Given the description of an element on the screen output the (x, y) to click on. 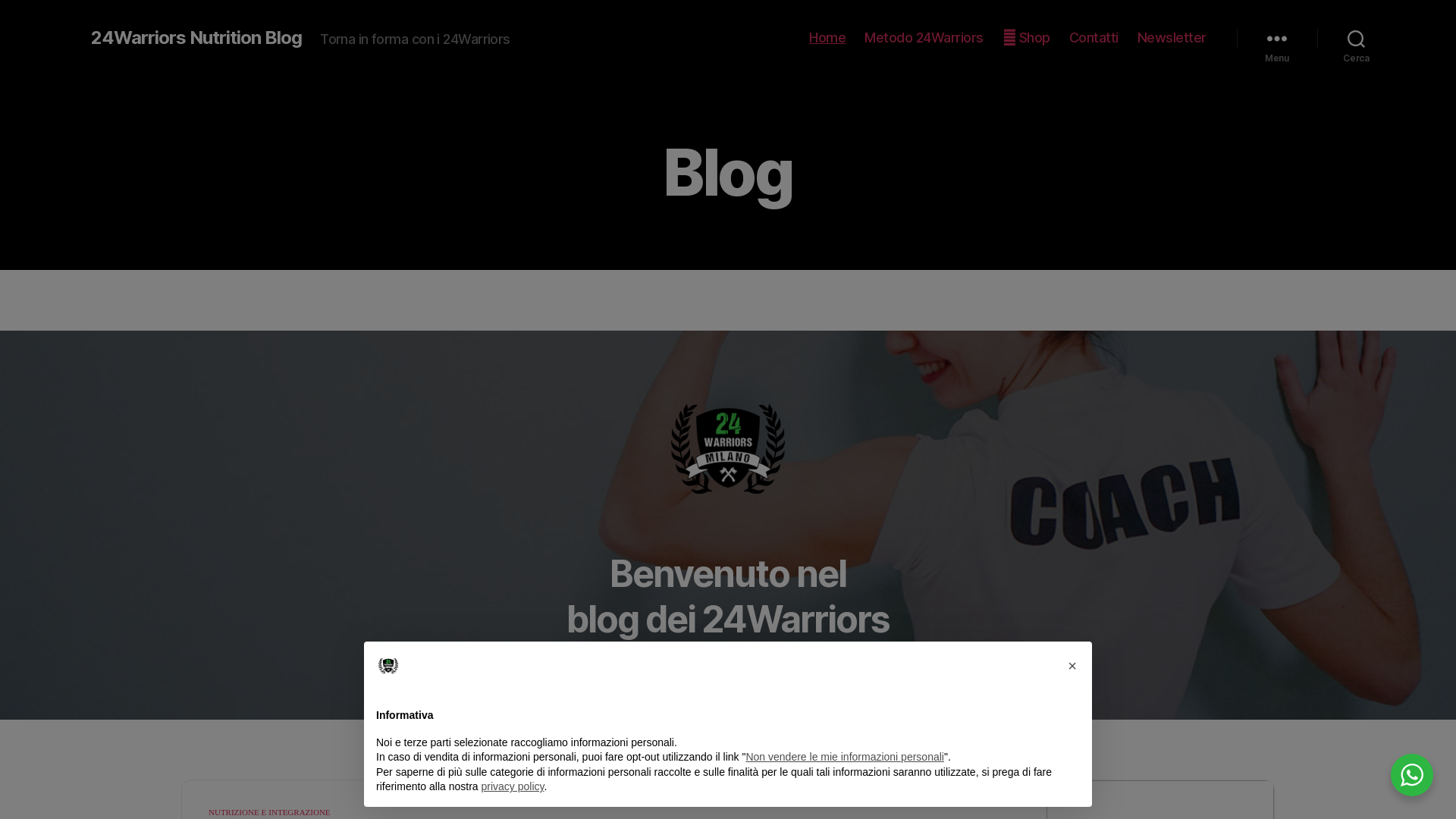
privacy policy Element type: text (512, 786)
Newsletter Element type: text (1171, 37)
NUTRIZIONE E INTEGRAZIONE Element type: text (269, 812)
24Warriors Nutrition Blog Element type: text (196, 37)
Contatti Element type: text (1093, 37)
Menu Element type: text (1276, 37)
Metodo 24Warriors Element type: text (923, 37)
Non vendere le mie informazioni personali Element type: text (844, 756)
Home Element type: text (827, 37)
Cerca Element type: text (1356, 37)
